Given the description of an element on the screen output the (x, y) to click on. 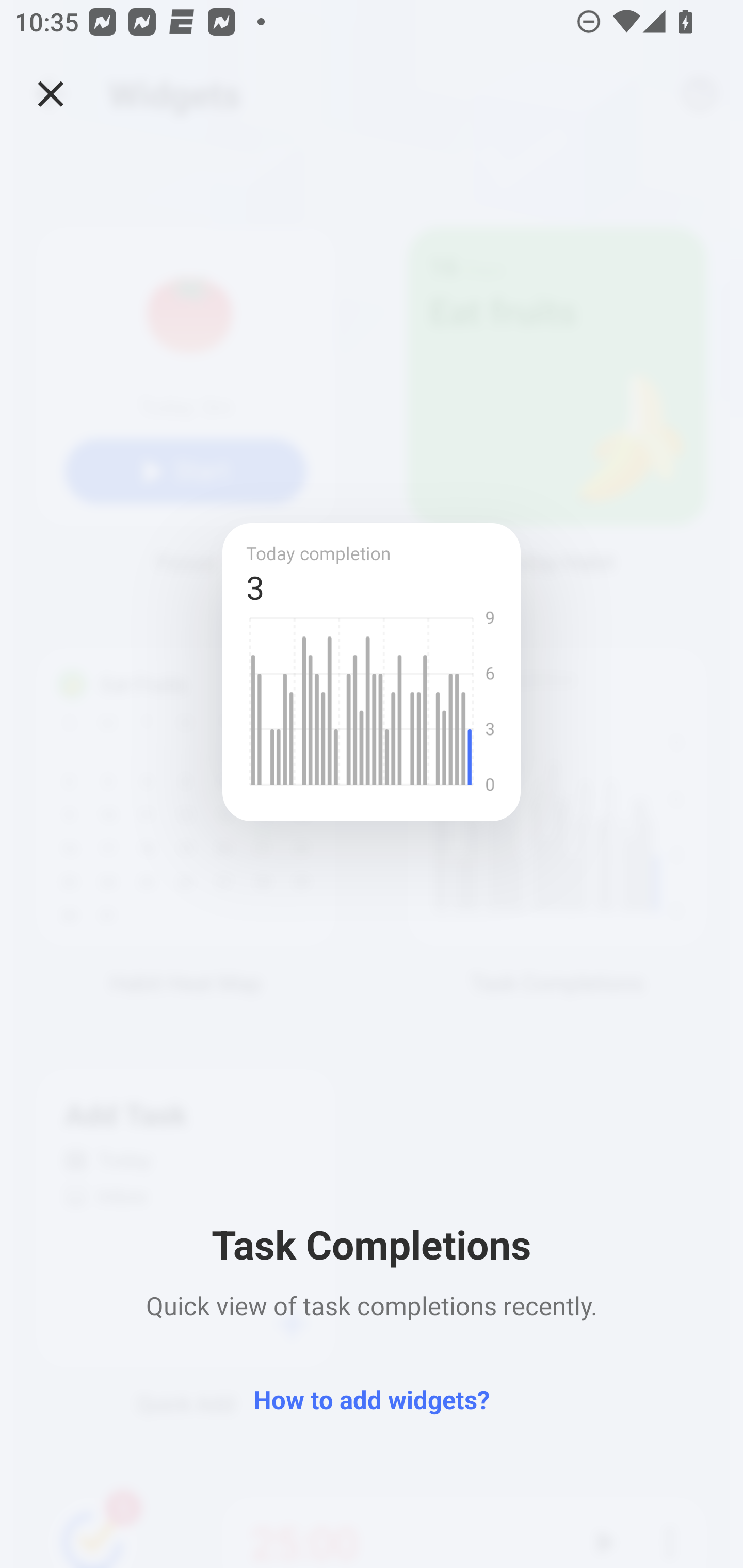
Today completion 3 (371, 672)
How to add widgets? (371, 1398)
